Given the description of an element on the screen output the (x, y) to click on. 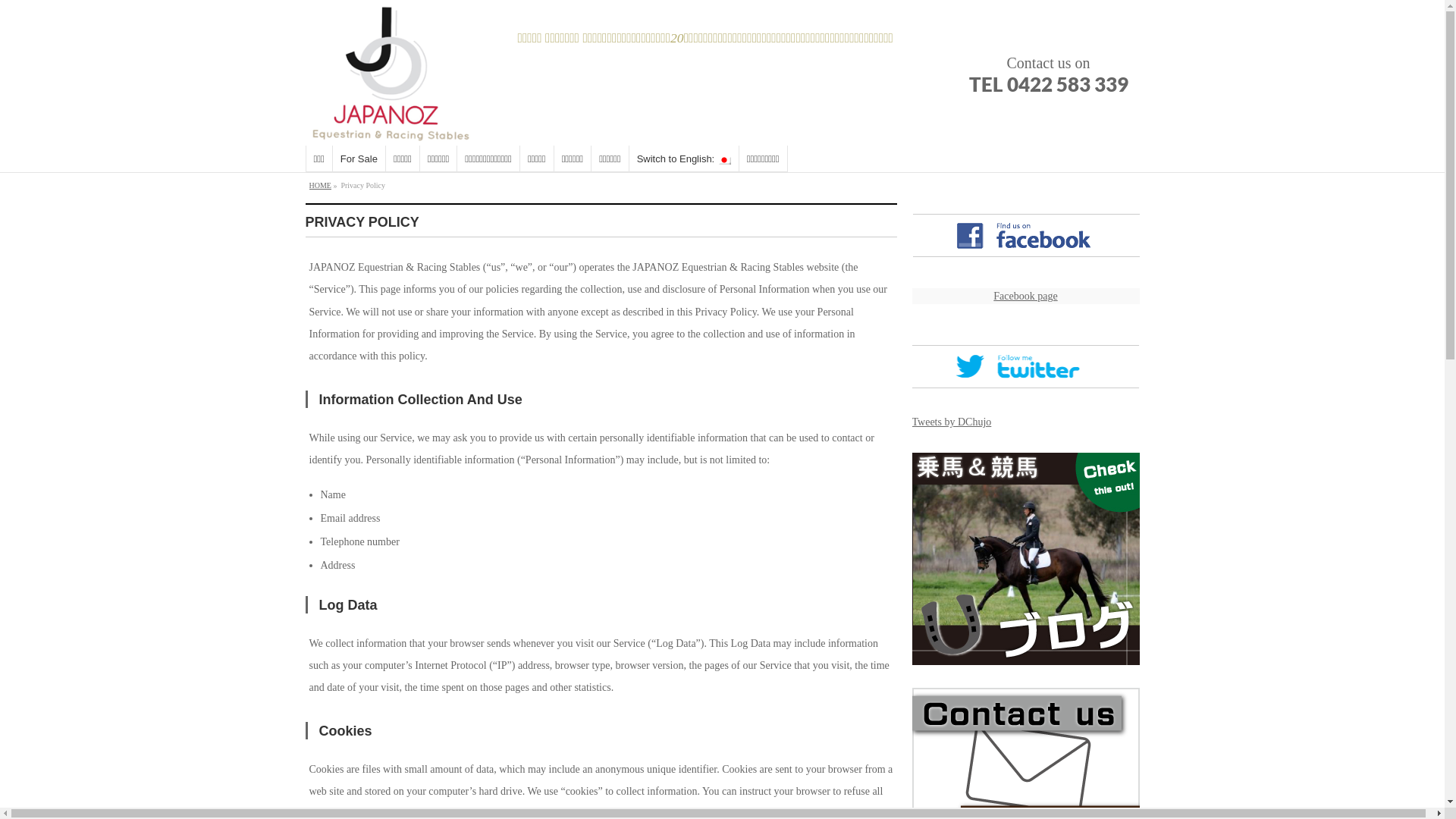
For Sale Element type: text (358, 158)
HOME Element type: text (320, 185)
Tweets by DChujo Element type: text (951, 421)
Switch to English:  Element type: text (684, 158)
Contact us on
TEL 0422 583 339 Element type: text (1047, 72)
Facebook page Element type: text (1025, 295)
